Given the description of an element on the screen output the (x, y) to click on. 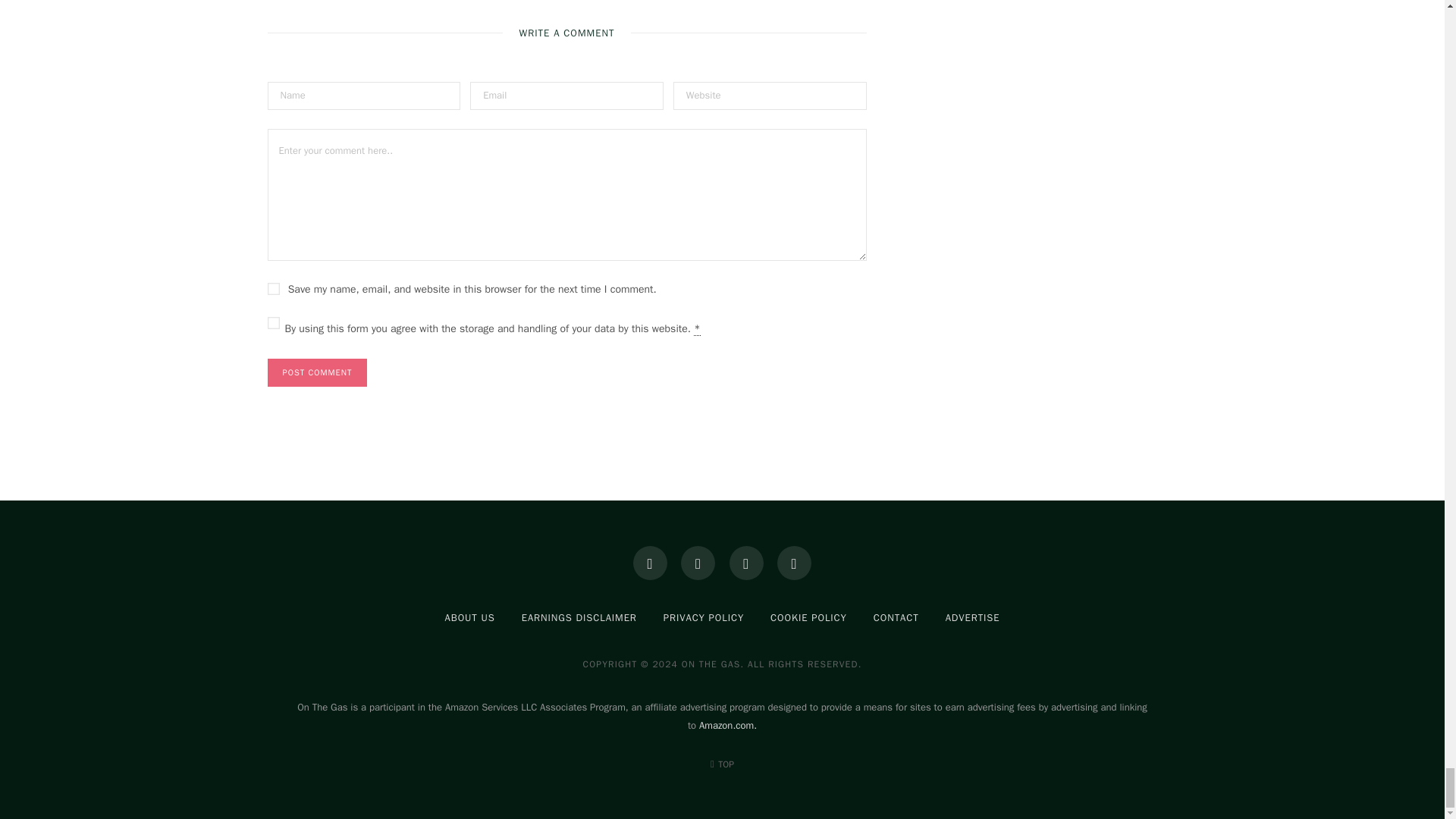
Facebook (649, 562)
1 (272, 322)
YouTube (793, 562)
yes (272, 288)
Post Comment (316, 372)
Pinterest (745, 562)
Instagram (697, 562)
